Given the description of an element on the screen output the (x, y) to click on. 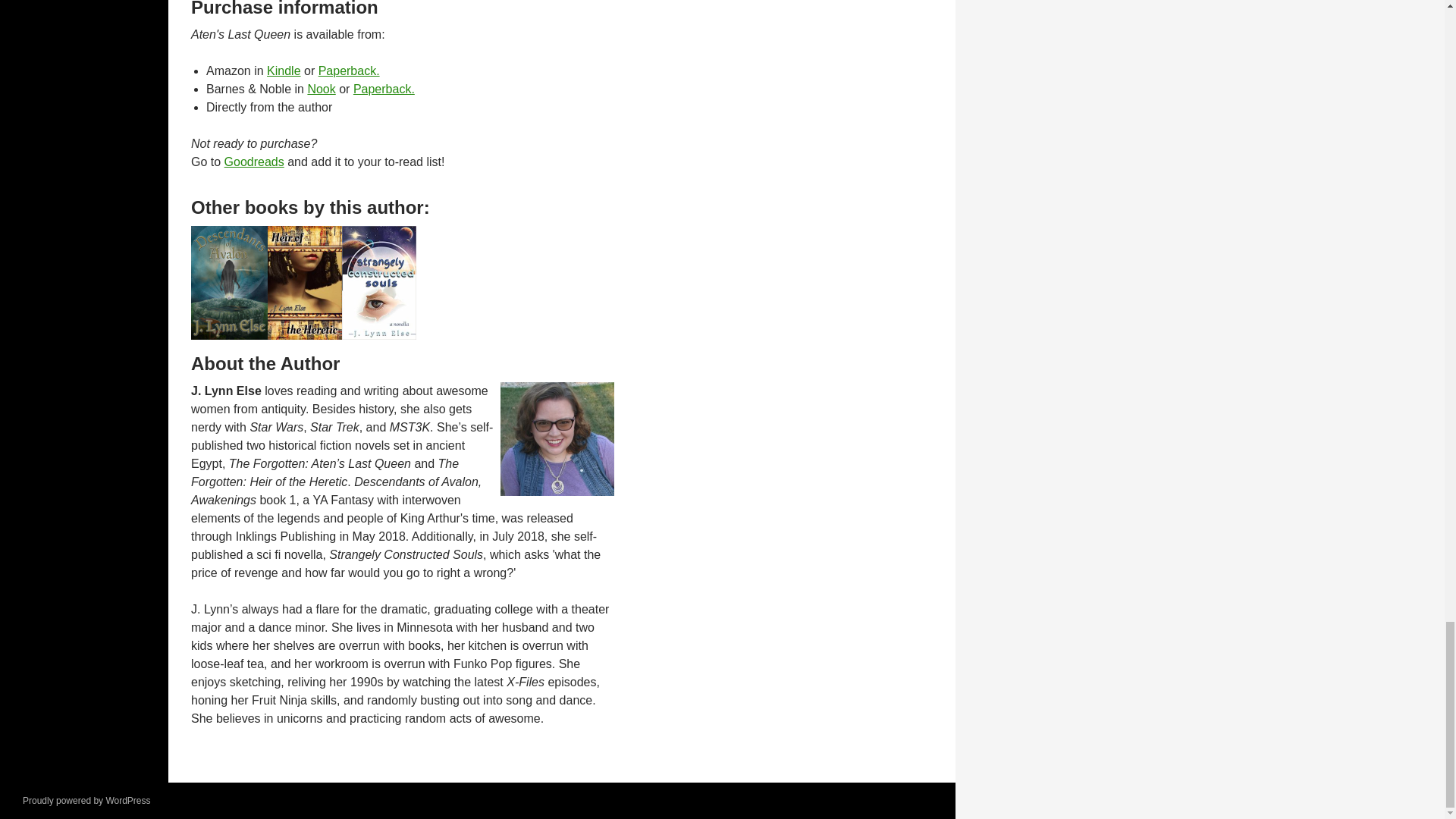
Paperback. (349, 70)
Kindle (282, 70)
Goodreads (253, 161)
Nook (320, 88)
Paperback. (383, 88)
